Given the description of an element on the screen output the (x, y) to click on. 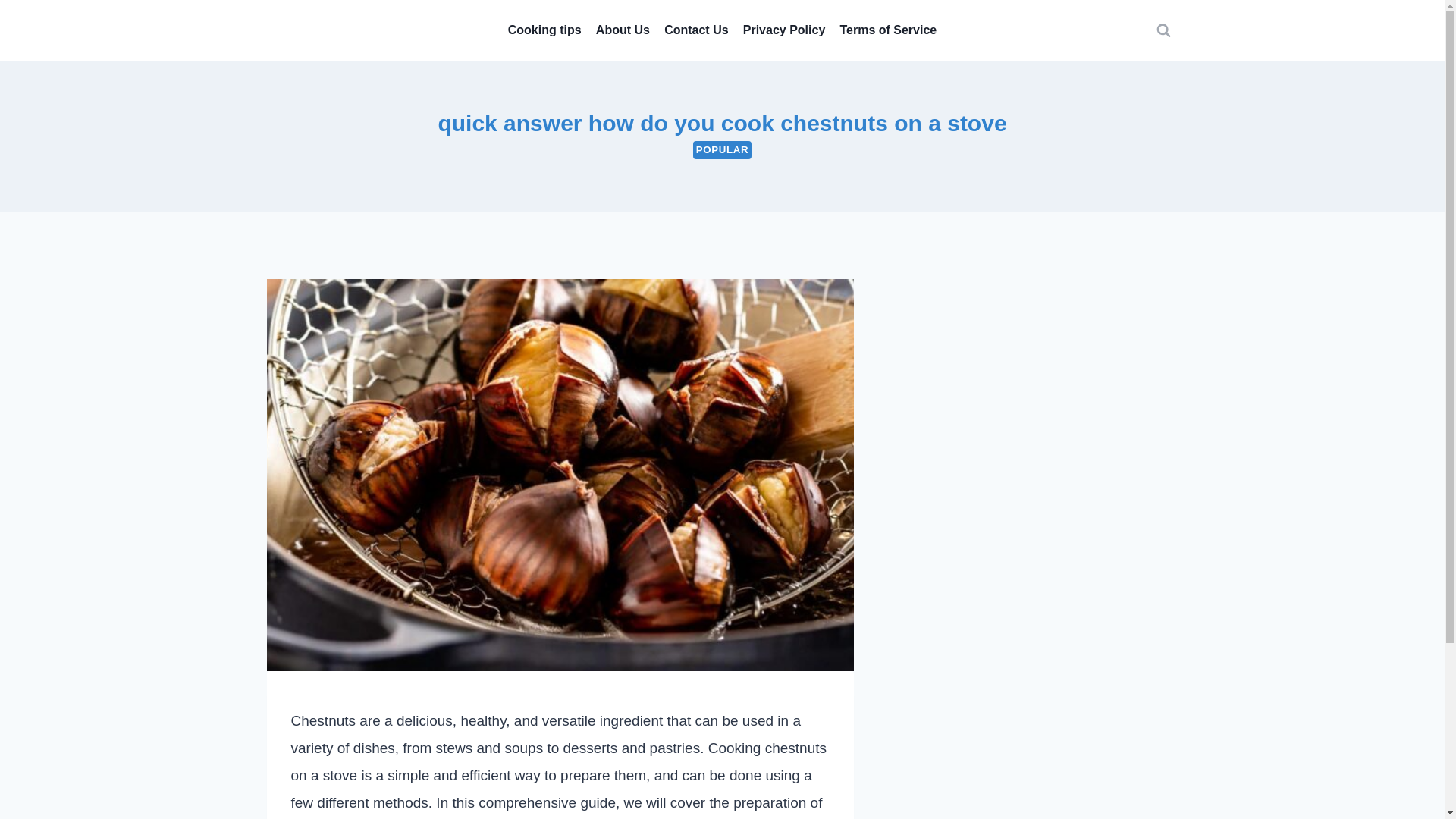
Privacy Policy (783, 30)
POPULAR (722, 149)
Cooking tips (544, 30)
Terms of Service (887, 30)
About Us (622, 30)
Contact Us (697, 30)
